Given the description of an element on the screen output the (x, y) to click on. 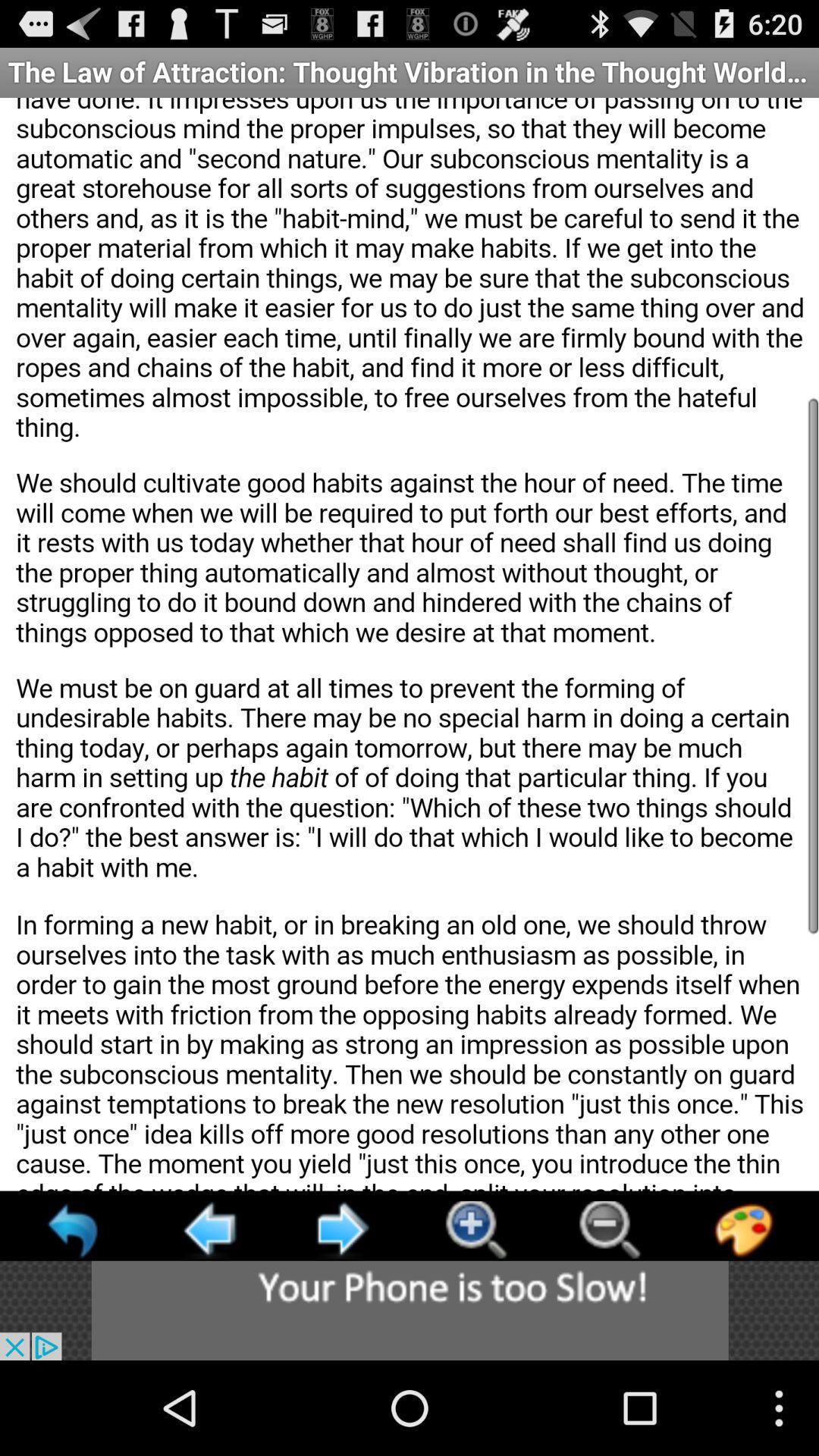
magnify text on page (475, 1229)
